Given the description of an element on the screen output the (x, y) to click on. 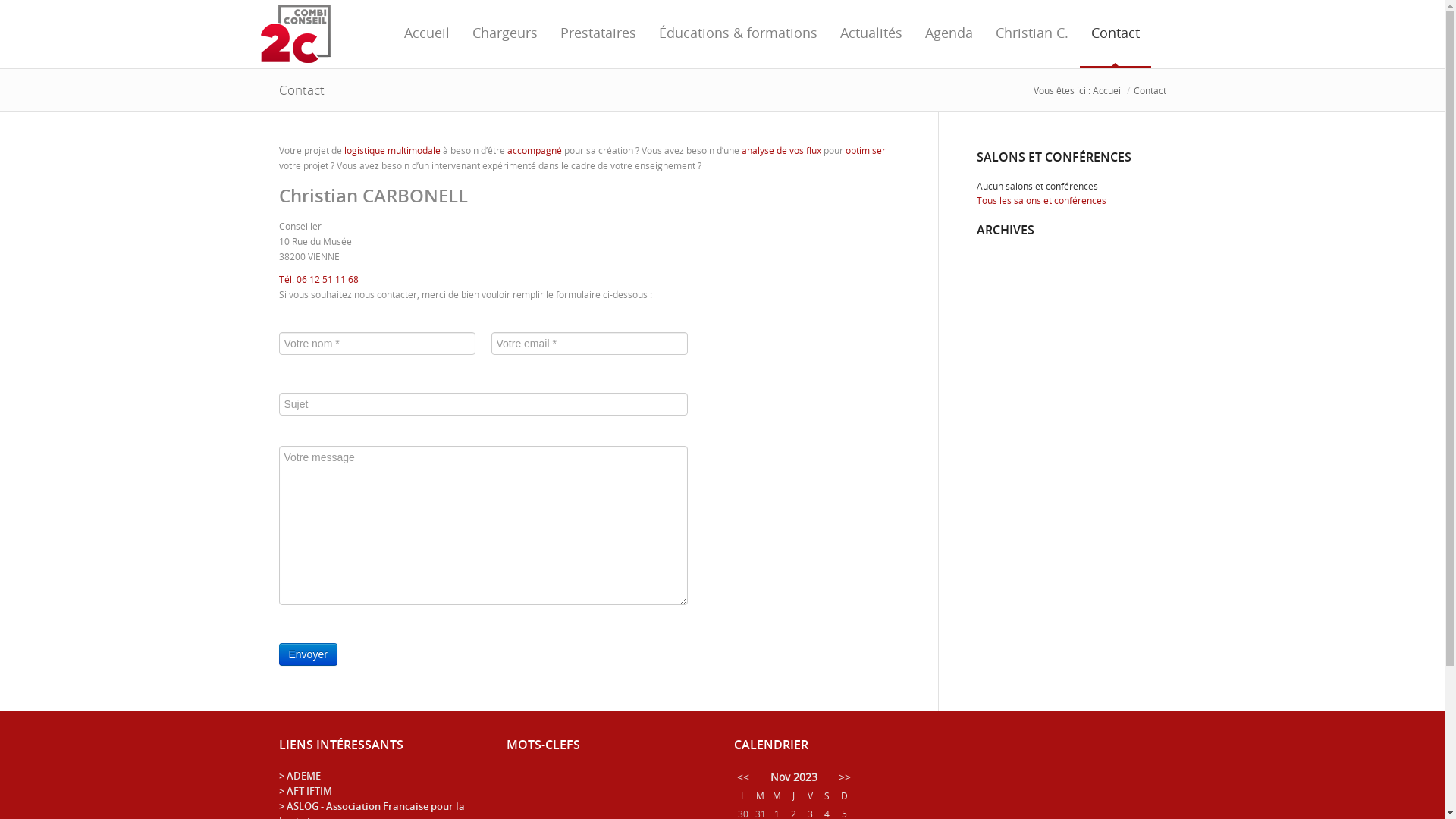
2c Combi-Conseil Element type: text (295, 33)
<< Element type: text (743, 776)
Christian C. Element type: text (1031, 34)
Accueil Element type: text (1107, 90)
Agenda Element type: text (948, 34)
Chargeurs Element type: text (505, 34)
> AFT IFTIM Element type: text (305, 790)
> ADEME Element type: text (299, 775)
>> Element type: text (844, 776)
Prestataires Element type: text (598, 34)
Accueil Element type: text (426, 34)
> ASLOG Element type: text (298, 805)
Contact Element type: text (1115, 34)
Envoyer Element type: text (308, 654)
